Given the description of an element on the screen output the (x, y) to click on. 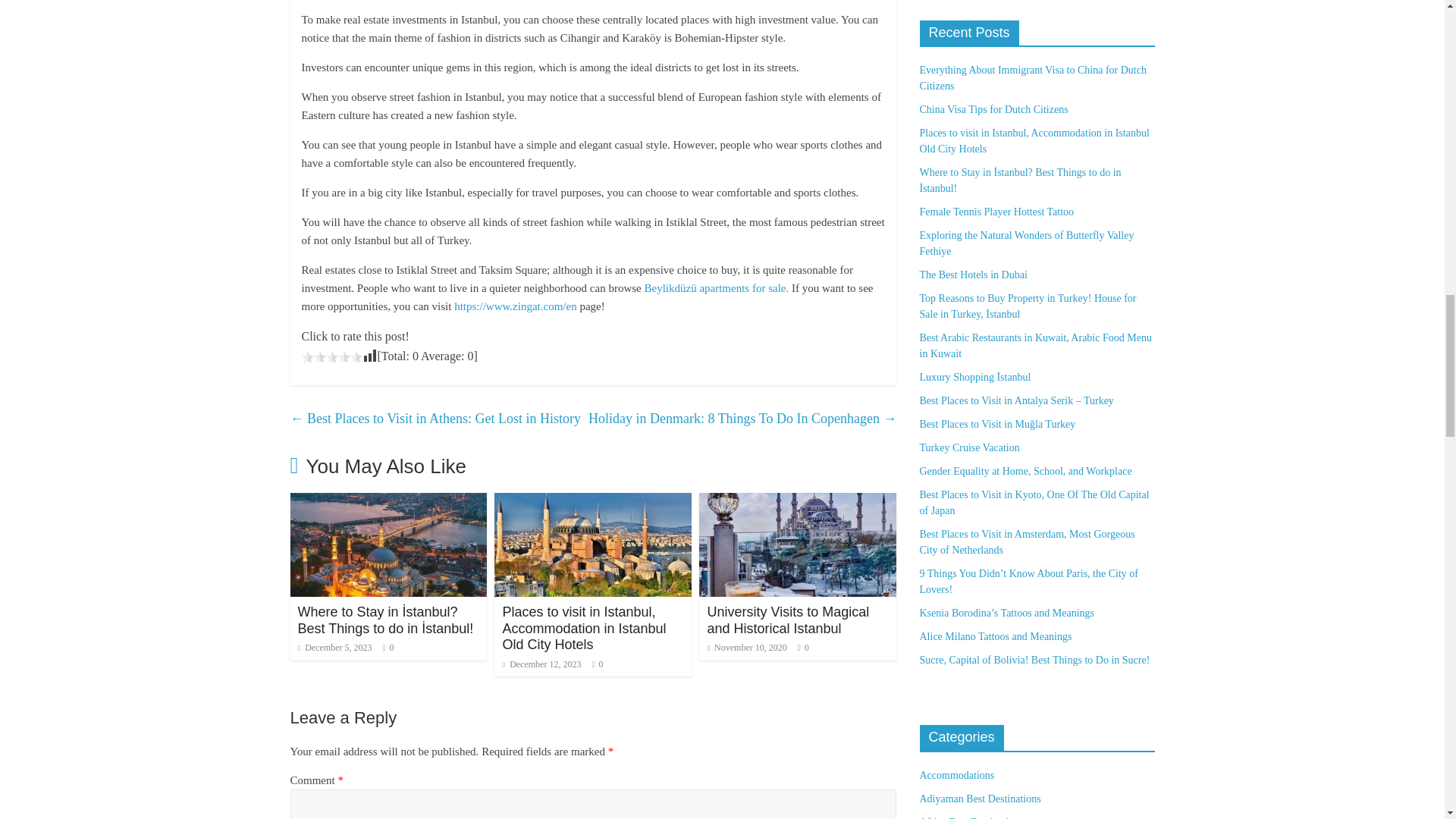
University Visits to Magical and Historical Istanbul (787, 620)
University Visits to Magical and Historical Istanbul (787, 620)
12:43 pm (541, 664)
December 5, 2023 (334, 647)
November 10, 2020 (746, 647)
December 12, 2023 (541, 664)
11:53 am (334, 647)
University Visits to Magical and Historical Istanbul (797, 502)
